Given the description of an element on the screen output the (x, y) to click on. 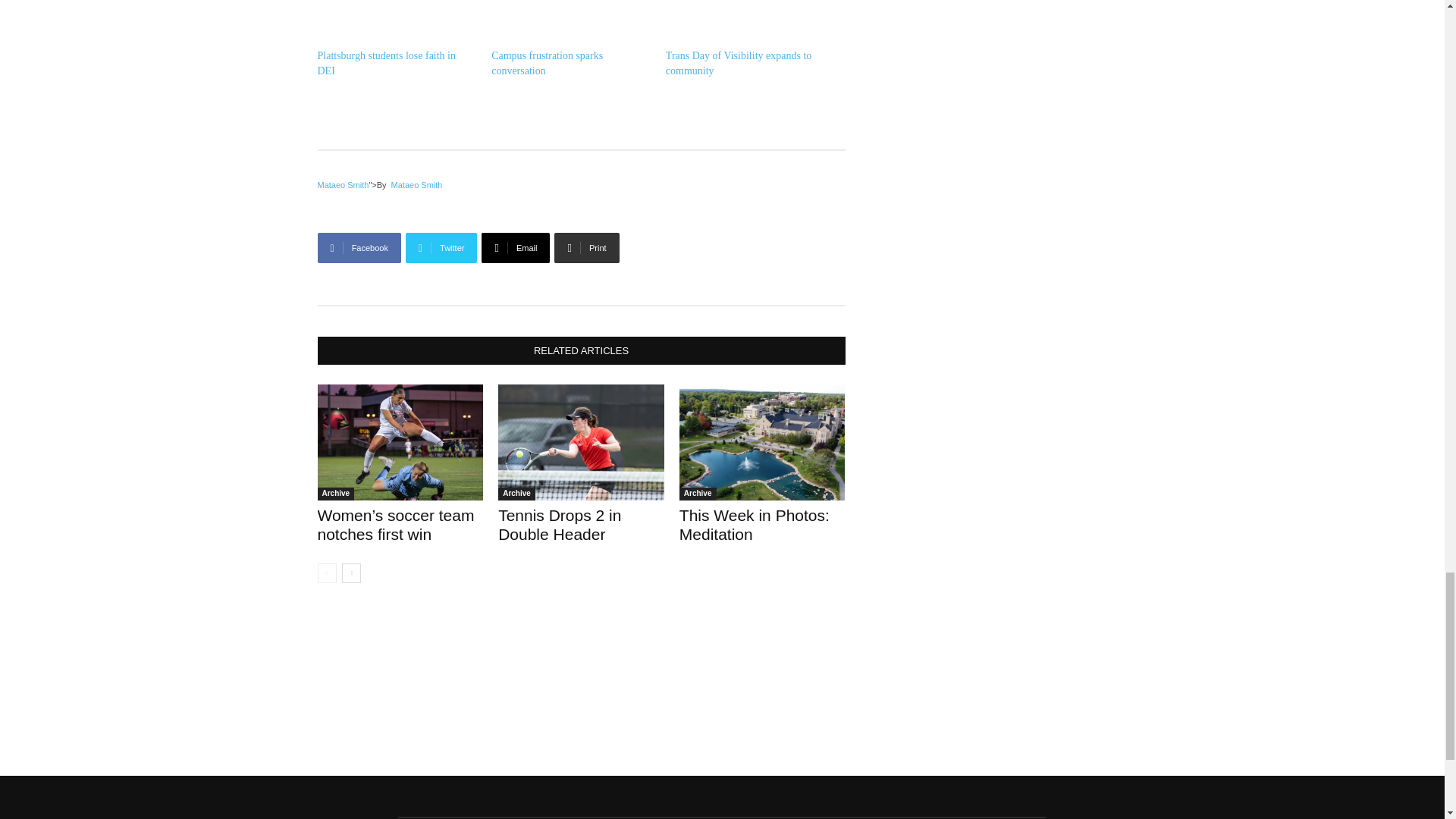
Plattsburgh students lose faith in DEI (386, 62)
Facebook (358, 247)
Campus frustration sparks conversation (547, 62)
Trans Day of Visibility expands to community (737, 62)
Twitter (441, 247)
